Given the description of an element on the screen output the (x, y) to click on. 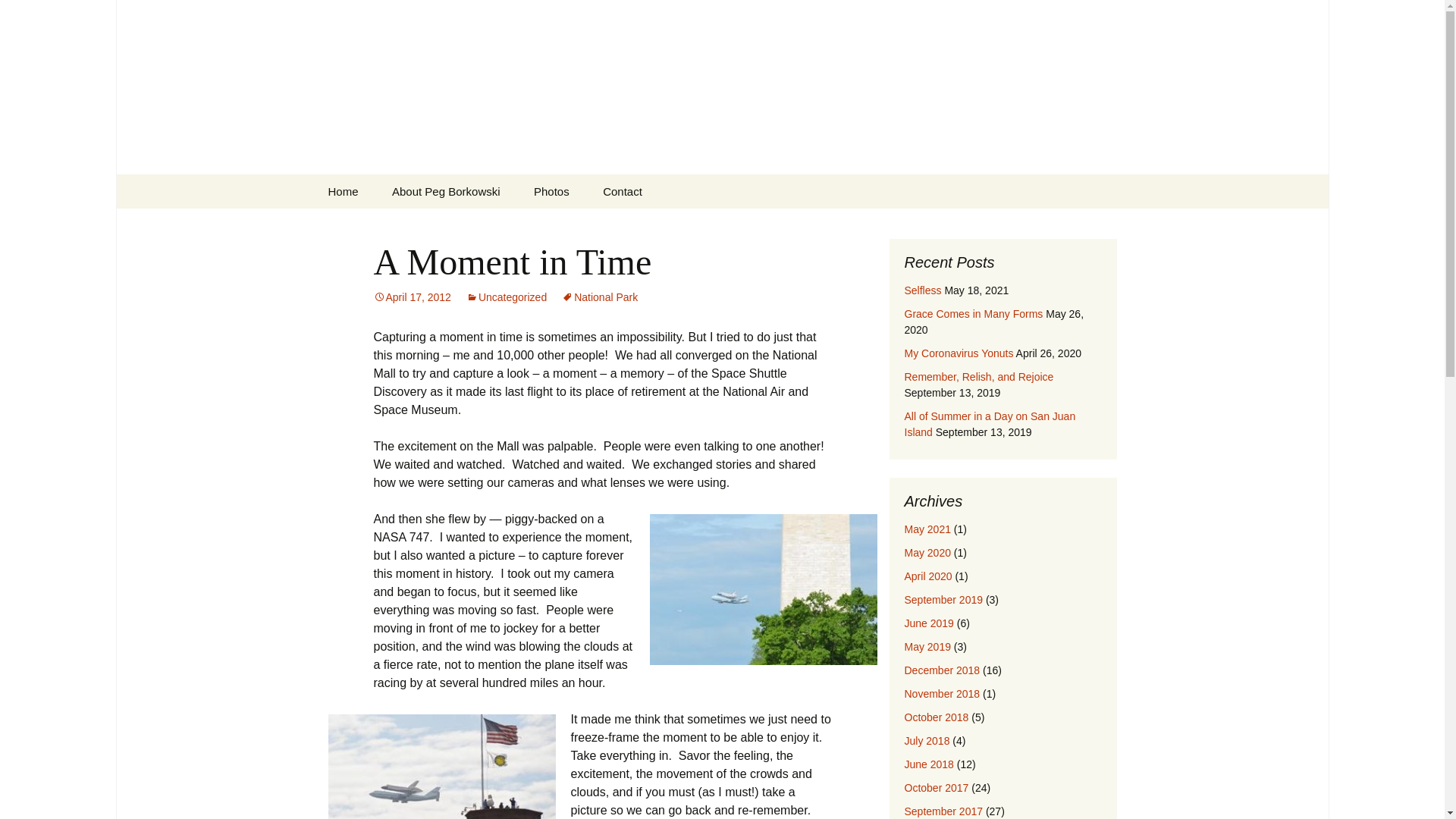
April 17, 2012 (410, 297)
Contact (623, 191)
April 2020 (928, 576)
September 2019 (943, 599)
June 2018 (928, 764)
May 2019 (927, 646)
Grace Comes in Many Forms (973, 313)
November 2018 (941, 693)
All of Summer in a Day on San Juan Island (989, 424)
